Given the description of an element on the screen output the (x, y) to click on. 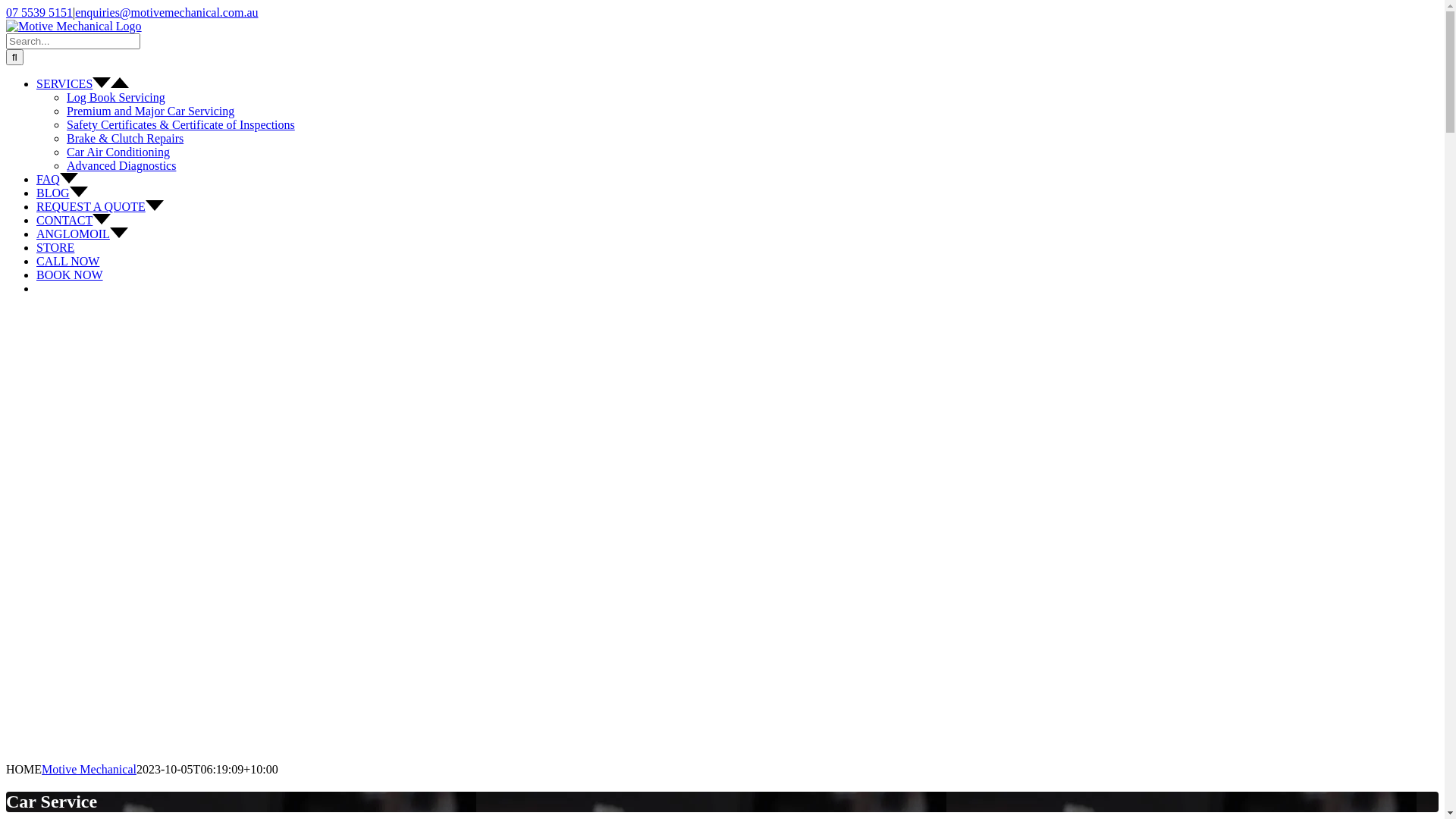
SERVICES Element type: text (82, 83)
Premium and Major Car Servicing Element type: text (150, 110)
Brake & Clutch Repairs Element type: text (124, 137)
CALL NOW Element type: text (67, 260)
ANGLOMOIL Element type: text (82, 233)
CONTACT Element type: text (73, 219)
Car Air Conditioning Element type: text (117, 151)
07 5539 5151 Element type: text (39, 12)
Log Book Servicing Element type: text (115, 97)
Safety Certificates & Certificate of Inspections Element type: text (180, 124)
BLOG Element type: text (61, 192)
BOOK NOW Element type: text (69, 274)
STORE Element type: text (55, 247)
Advanced Diagnostics Element type: text (120, 165)
REQUEST A QUOTE Element type: text (99, 206)
enquiries@motivemechanical.com.au Element type: text (166, 12)
Motive Mechanical Element type: text (88, 768)
Skip to content Element type: text (5, 5)
FAQ Element type: text (57, 178)
